Given the description of an element on the screen output the (x, y) to click on. 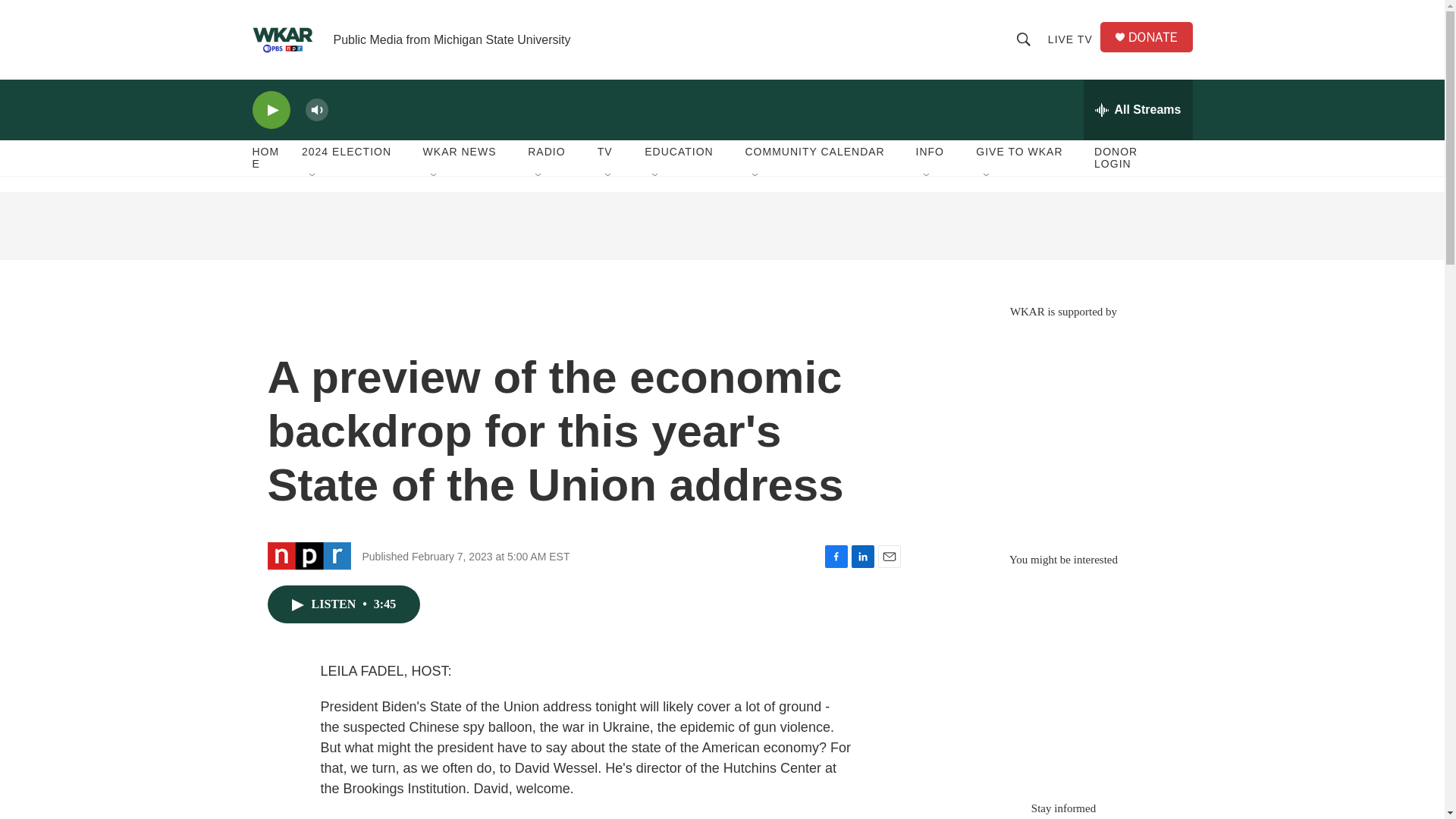
3rd party ad content (1062, 428)
3rd party ad content (1062, 677)
3rd party ad content (721, 225)
